Given the description of an element on the screen output the (x, y) to click on. 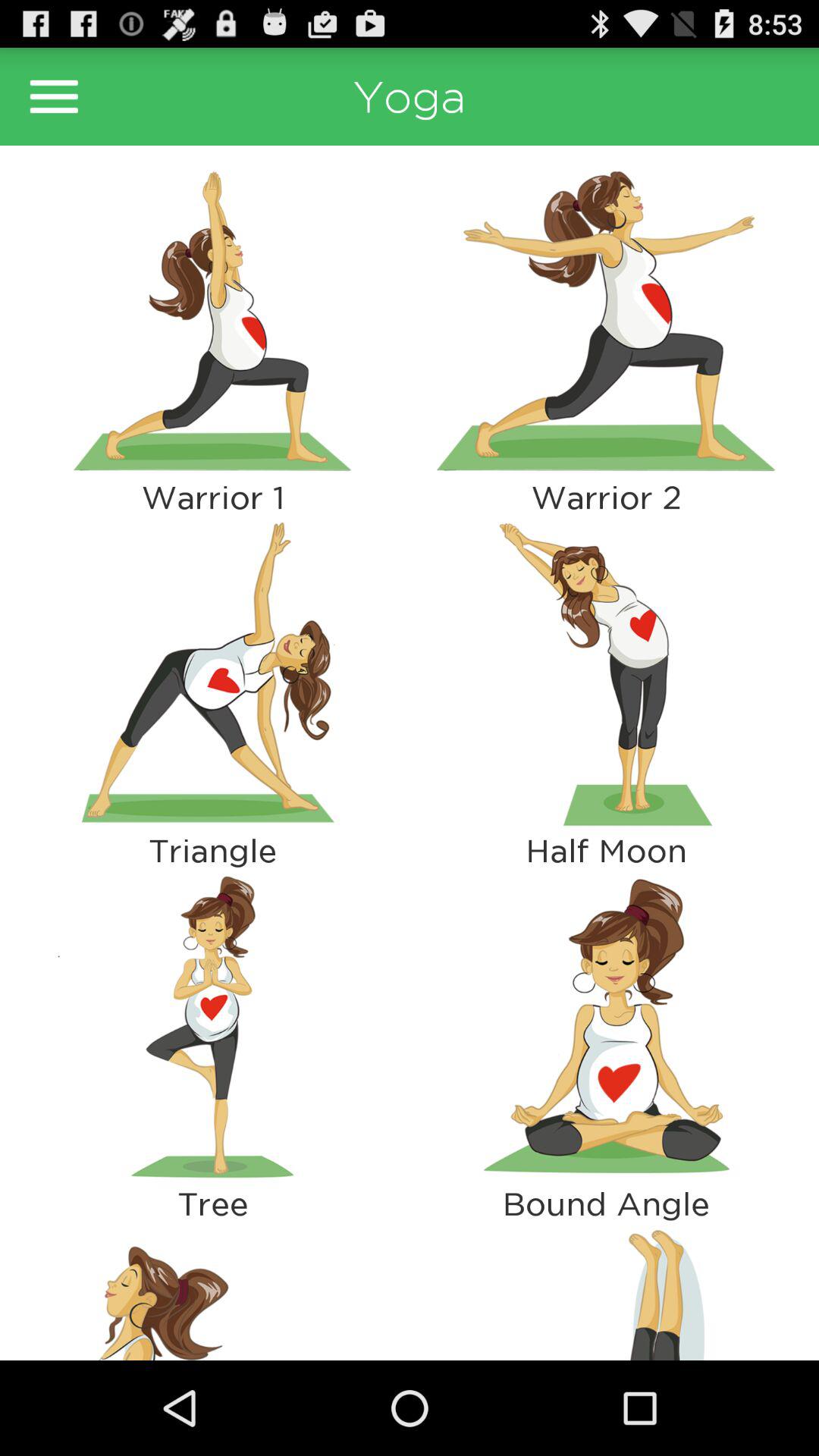
select icon below warrior 1 icon (212, 673)
